Given the description of an element on the screen output the (x, y) to click on. 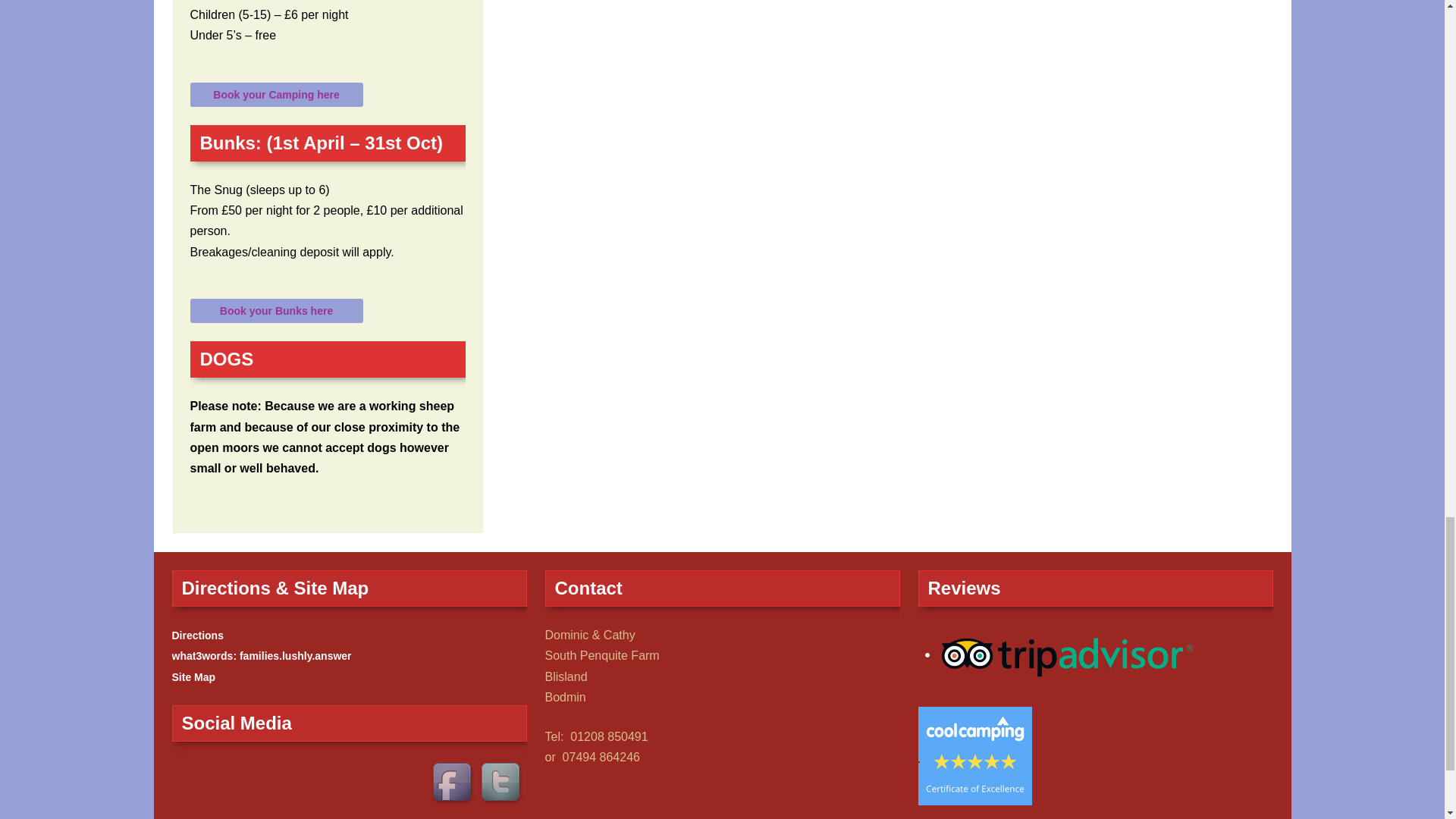
Recommended by Cool Camping (973, 755)
twitter (501, 784)
facebook (453, 784)
